Given the description of an element on the screen output the (x, y) to click on. 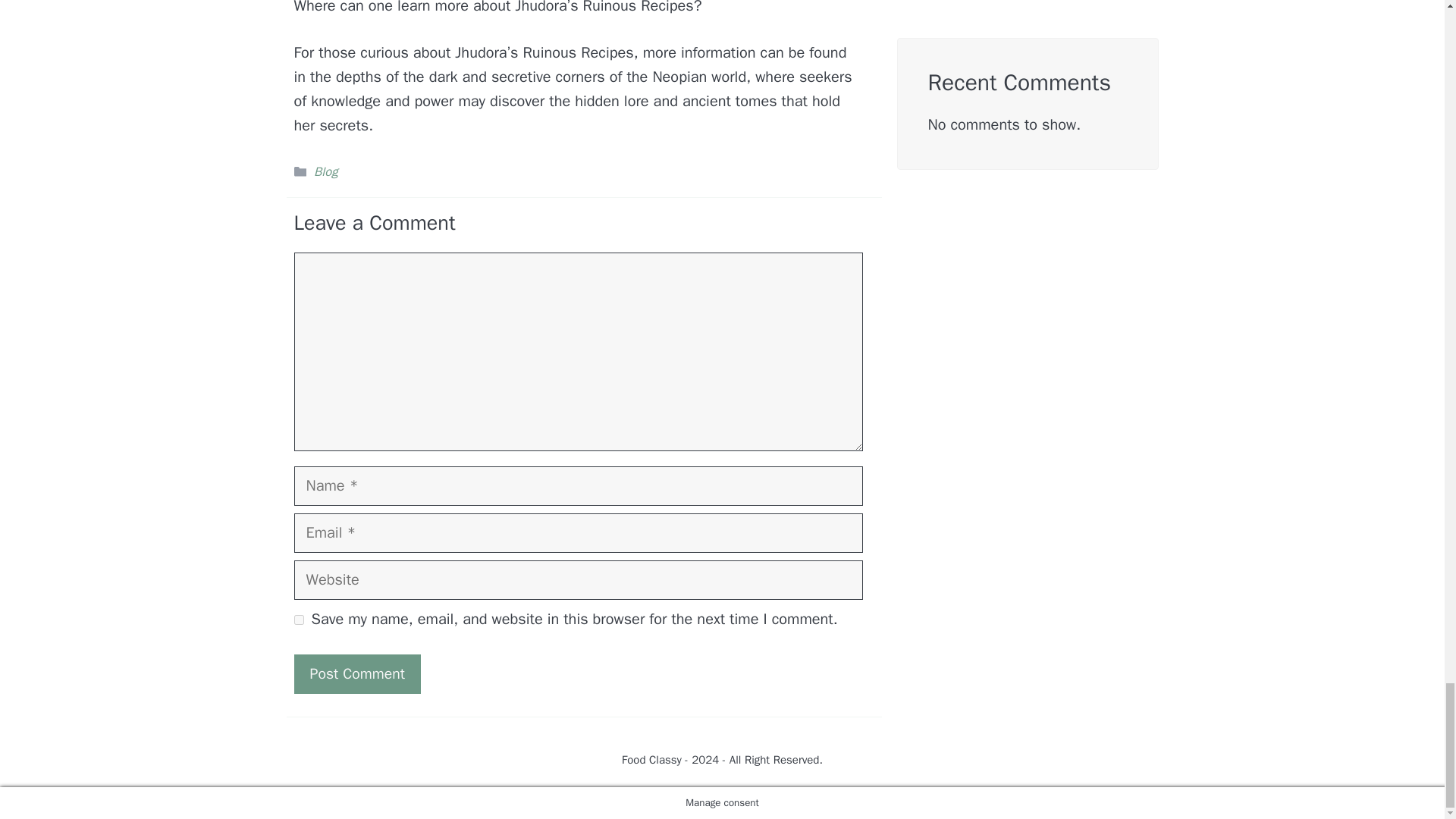
Blog (325, 171)
Post Comment (357, 673)
yes (299, 619)
Post Comment (357, 673)
